Given the description of an element on the screen output the (x, y) to click on. 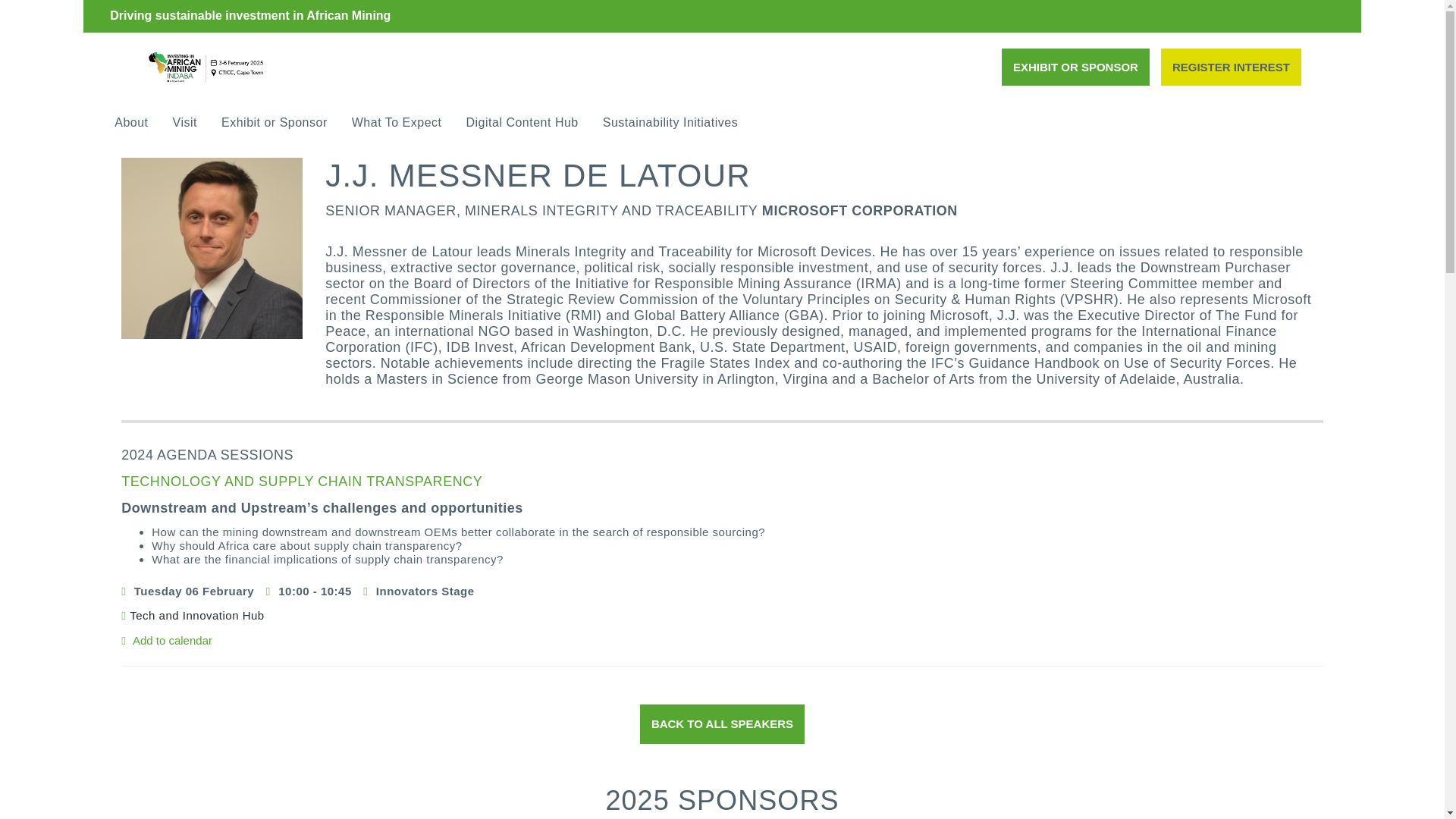
EXHIBIT OR SPONSOR (1075, 67)
About (130, 121)
Exhibit or Sponsor (274, 121)
What To Expect (396, 121)
Visit (184, 121)
REGISTER INTEREST (1230, 67)
Digital Content Hub (520, 121)
